Given the description of an element on the screen output the (x, y) to click on. 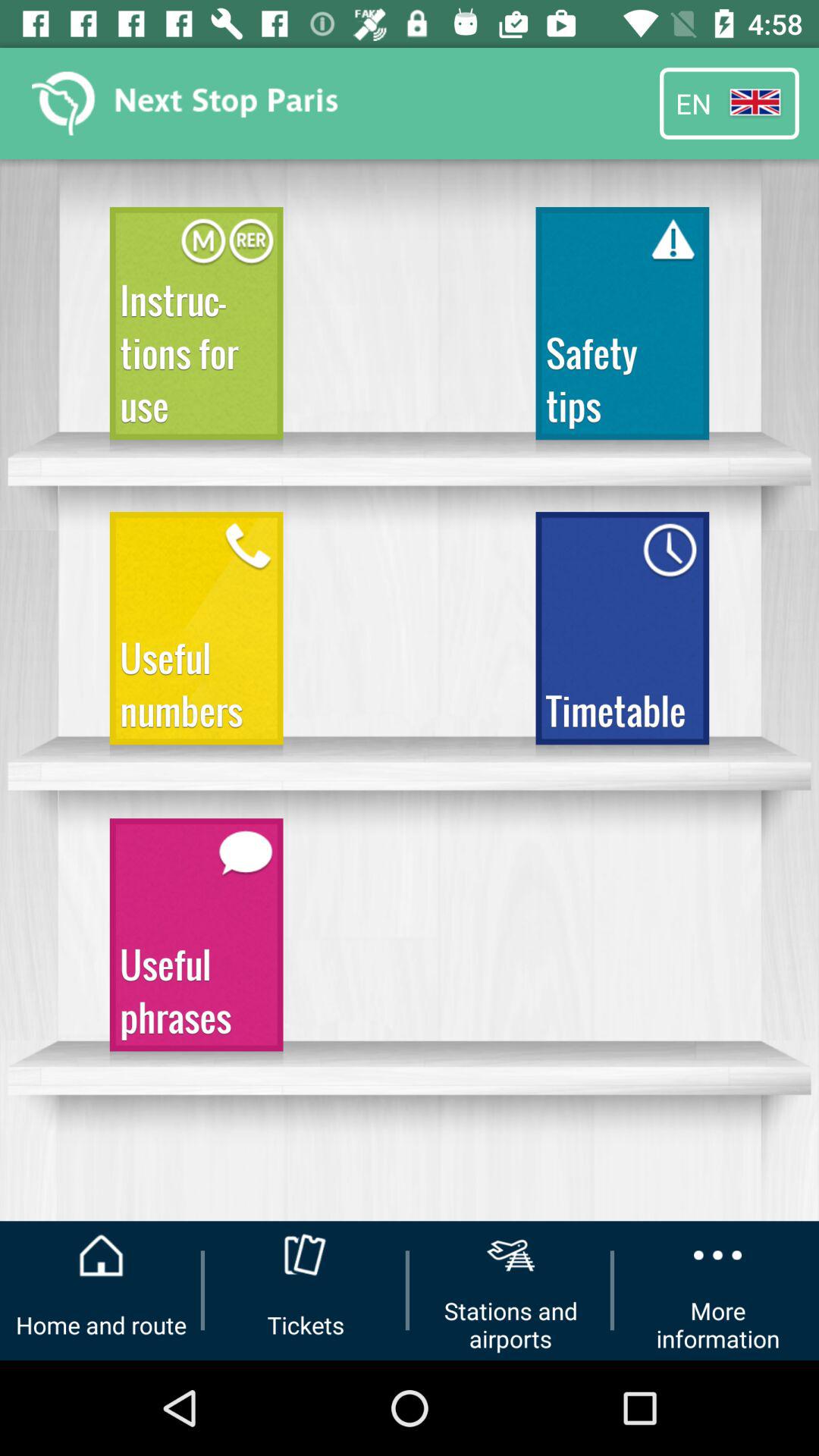
tap the icon below the instructions for use icon (196, 634)
